Given the description of an element on the screen output the (x, y) to click on. 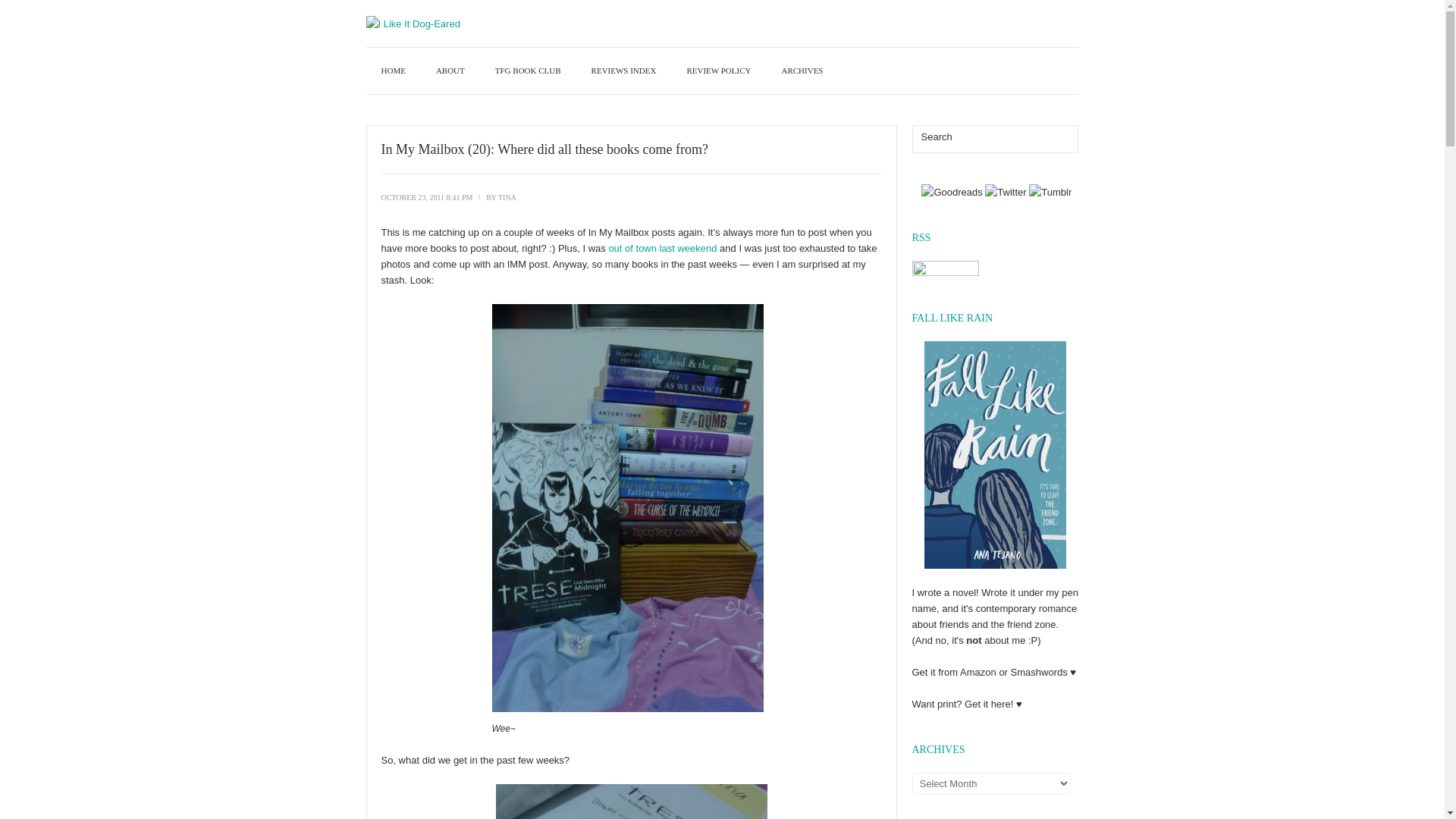
Beach and Books (662, 247)
TFG BOOK CLUB (528, 70)
Search (1064, 138)
P1030143 (631, 801)
HOME (392, 70)
TINA (506, 197)
by Tina (506, 197)
Search (980, 136)
OCTOBER 23, 2011 8:41 PM (425, 197)
REVIEWS INDEX (623, 70)
ARCHIVES (801, 70)
out of town last weekend (662, 247)
ABOUT (450, 70)
REVIEW POLICY (718, 70)
